Given the description of an element on the screen output the (x, y) to click on. 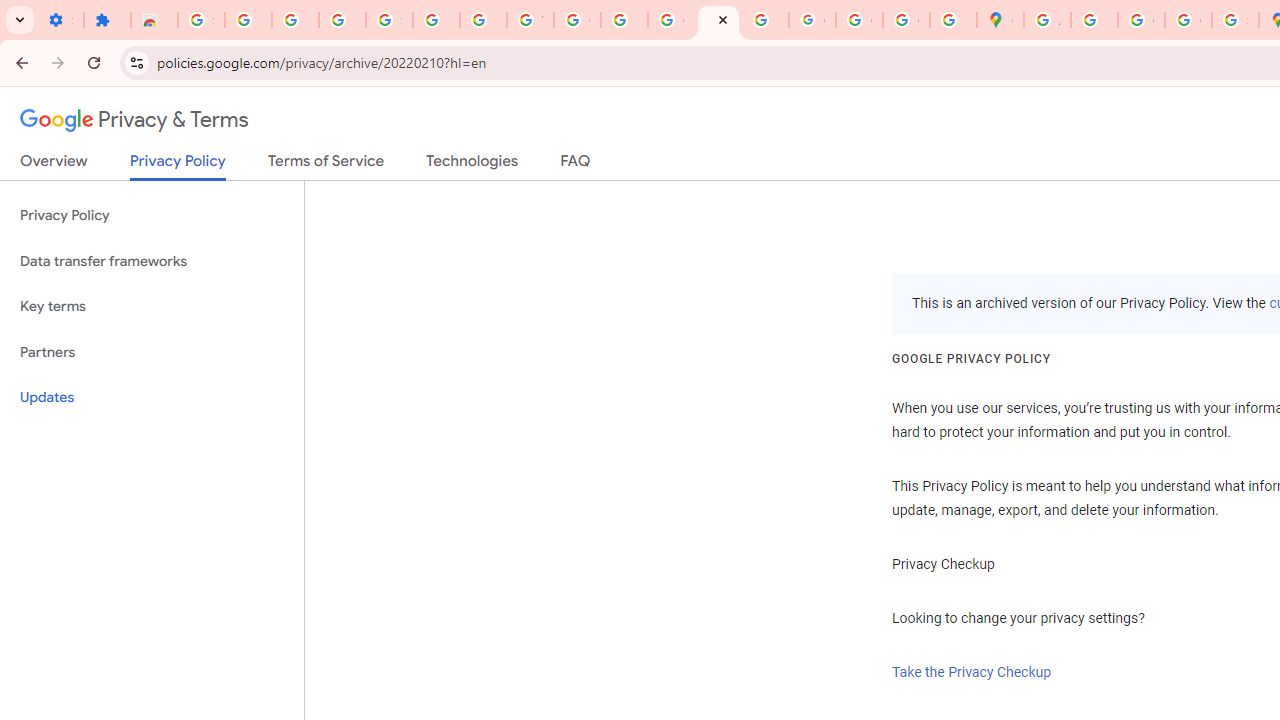
Take the Privacy Checkup (972, 672)
Google Maps (999, 20)
Data transfer frameworks (152, 261)
Key terms (152, 306)
Delete photos & videos - Computer - Google Photos Help (248, 20)
YouTube (530, 20)
Updates (152, 398)
Settings - On startup (60, 20)
